Given the description of an element on the screen output the (x, y) to click on. 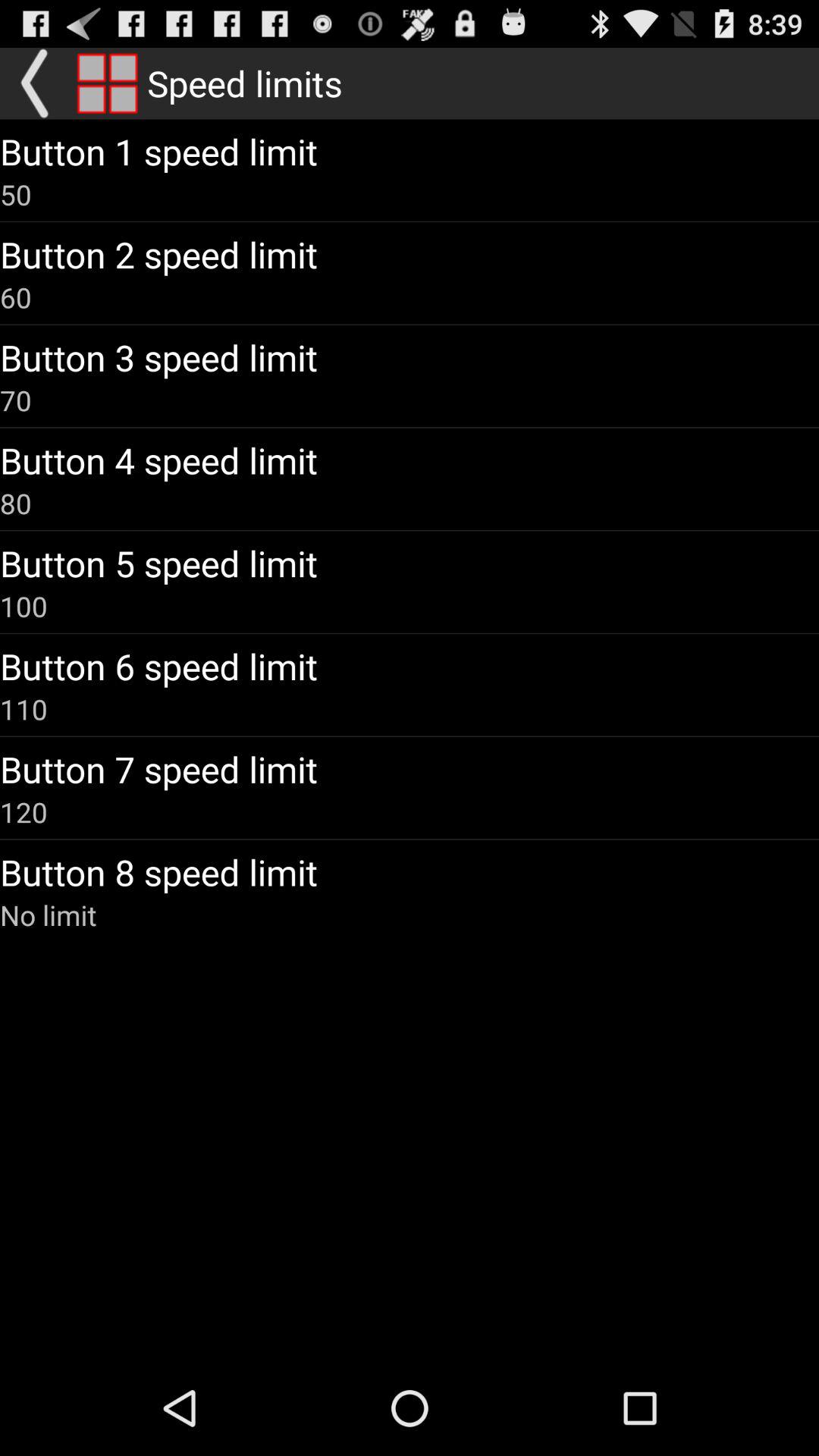
flip until the 120 app (23, 811)
